Given the description of an element on the screen output the (x, y) to click on. 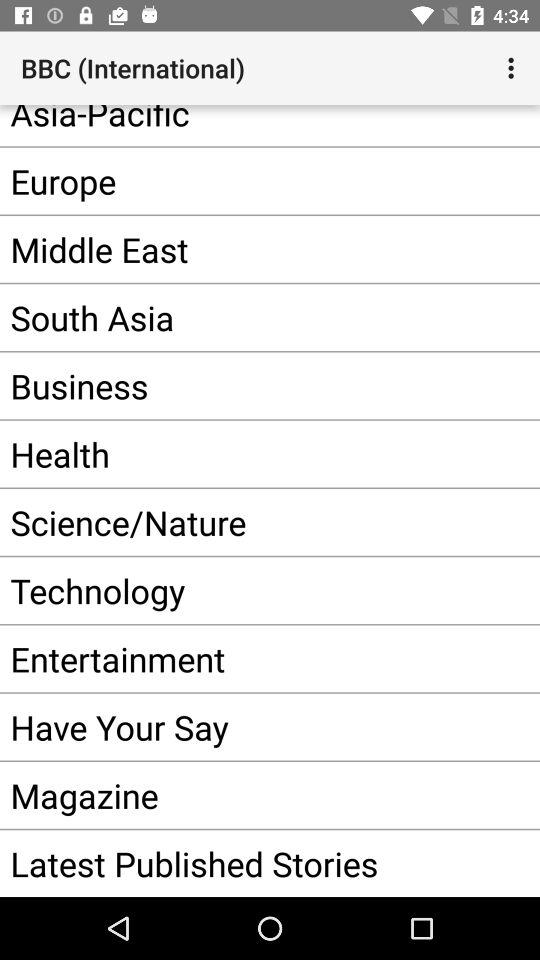
turn on the item below the bbc (international) (240, 125)
